Given the description of an element on the screen output the (x, y) to click on. 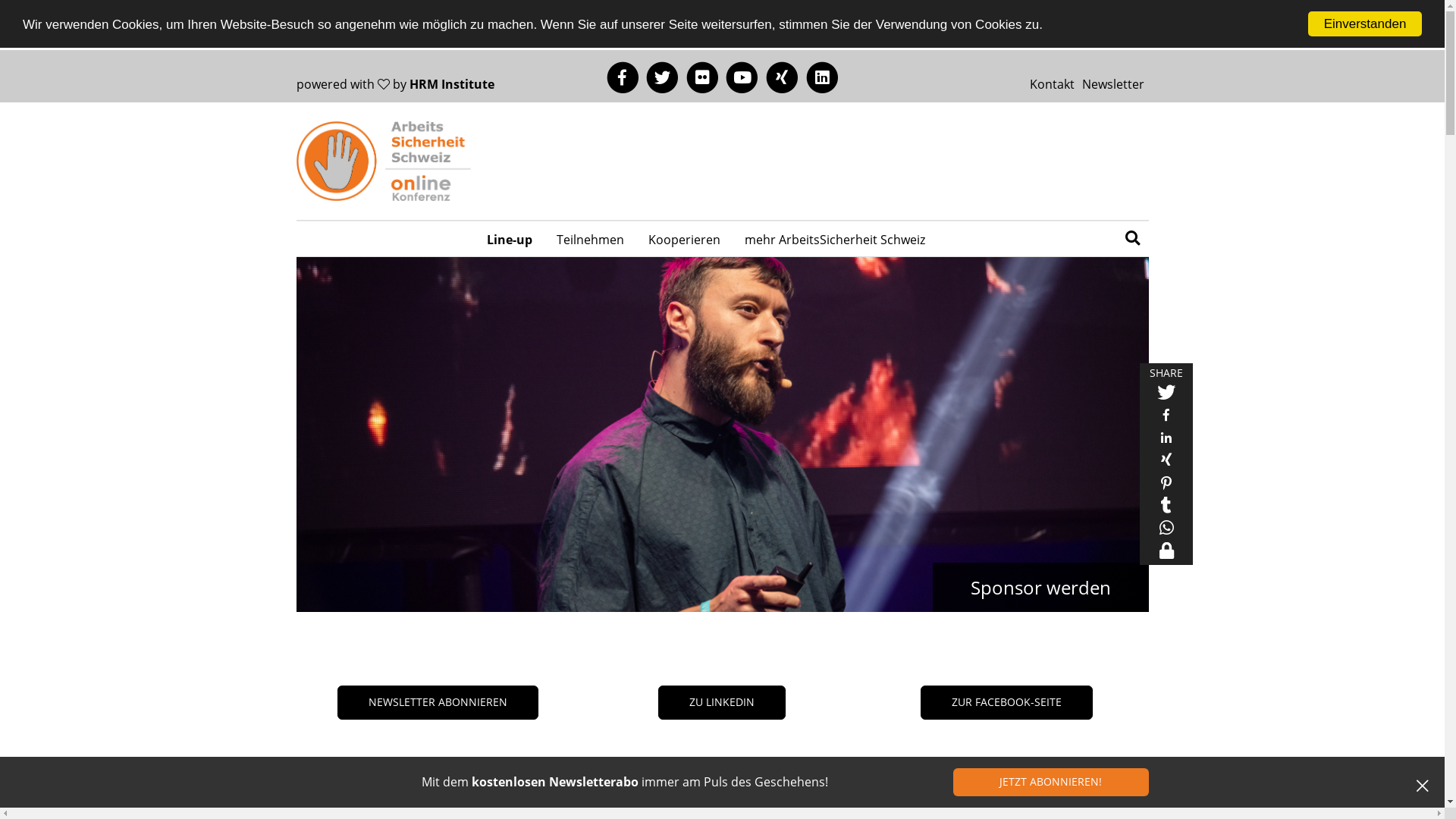
NEWSLETTER ABONNIEREN Element type: text (437, 702)
Bei Whatsapp teilen Element type: hover (1165, 530)
JETZT ABONNIEREN! Element type: text (1050, 782)
LinkedIn Element type: hover (822, 76)
Kooperieren Element type: text (684, 238)
Twitter Element type: hover (662, 76)
Xing Element type: hover (782, 76)
Bei Pinterest pinnen Element type: hover (1165, 484)
Bei LinkedIn teilen Element type: hover (1165, 439)
Bei Twitter teilen Element type: hover (1165, 393)
Flickr Element type: hover (702, 76)
ZU LINKEDIN Element type: text (721, 702)
Line-up Element type: text (509, 238)
mehr ArbeitsSicherheit Schweiz Element type: text (834, 238)
Kontakt Element type: text (1052, 83)
Bei XING teilen Element type: hover (1165, 462)
Youtube Element type: hover (741, 76)
Facebook Element type: hover (622, 76)
zur Startseite Element type: hover (382, 161)
Bei Facebook teilen Element type: hover (1165, 416)
Bei Threema teilen Element type: hover (1165, 553)
ZUR FACEBOOK-SEITE Element type: text (1006, 702)
Newsletter Element type: text (1113, 83)
Teilnehmen Element type: text (590, 238)
Bei tumblr teilen Element type: hover (1165, 507)
Einverstanden Element type: text (1364, 23)
